Given the description of an element on the screen output the (x, y) to click on. 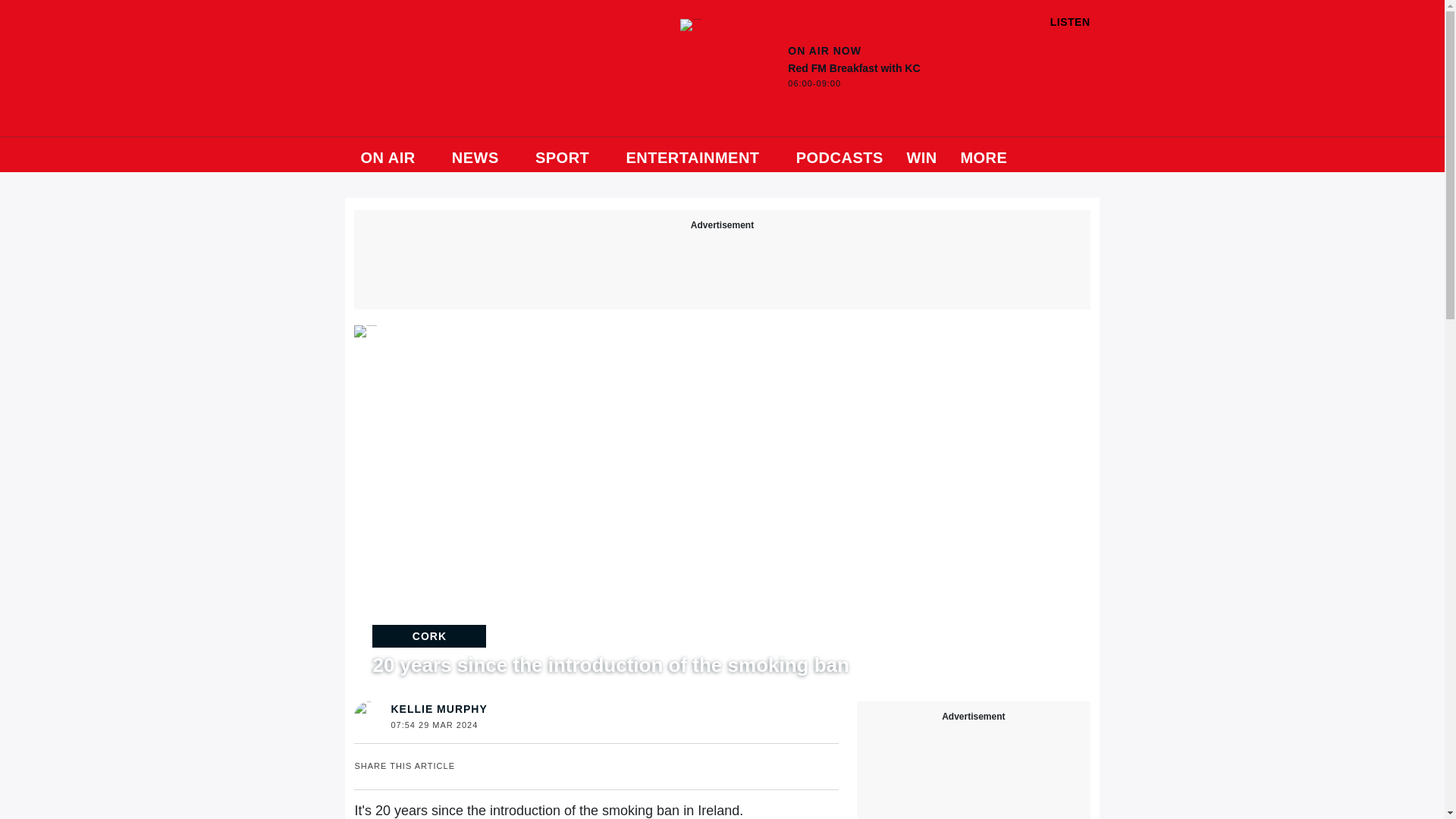
ON AIR (393, 154)
NEWS (481, 154)
MORE (989, 154)
Podcasts (839, 154)
Red FM Breakfast with KC (860, 77)
Win (690, 24)
SPORT (920, 154)
ENTERTAINMENT (568, 154)
WIN (699, 154)
